Given the description of an element on the screen output the (x, y) to click on. 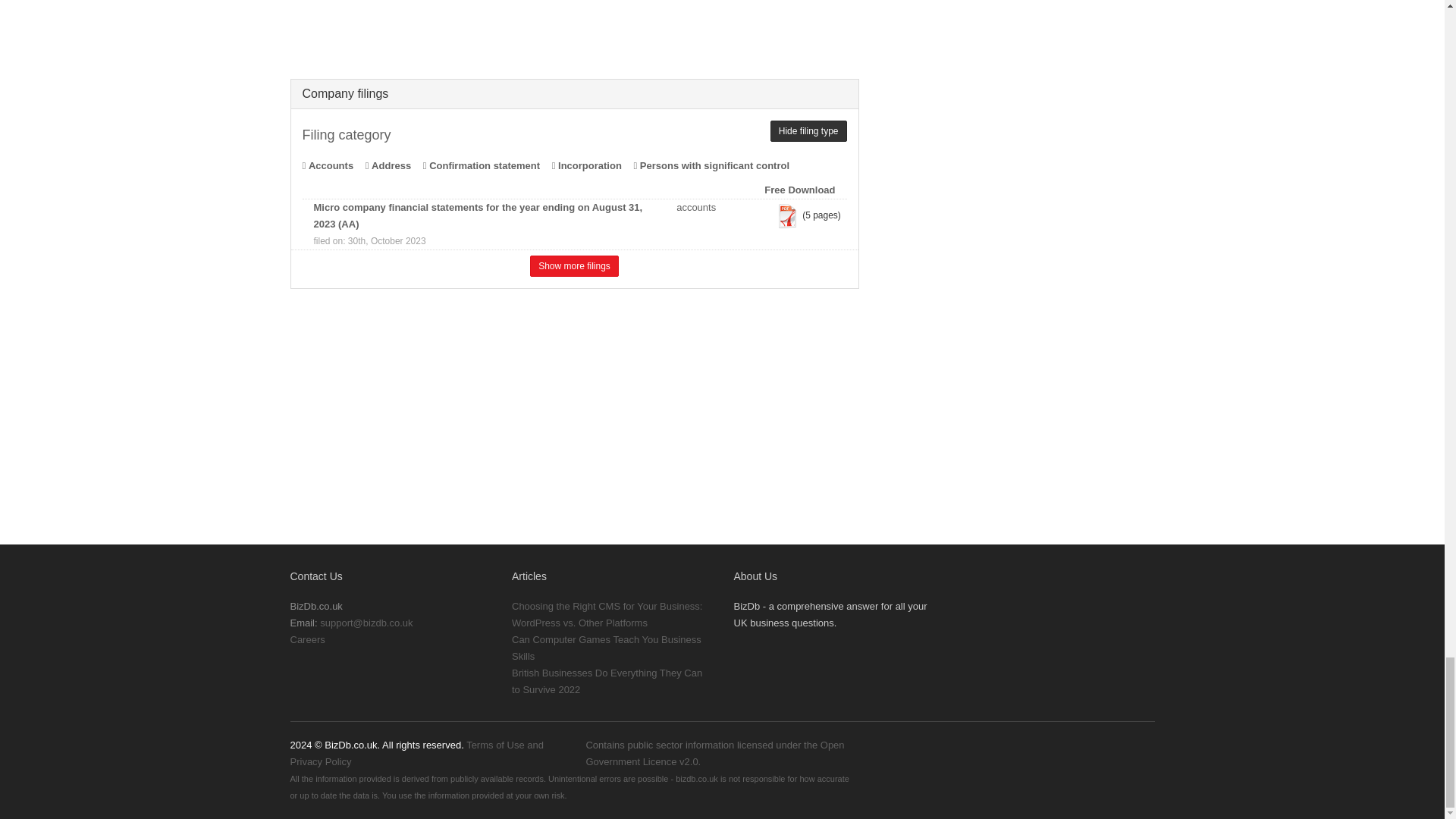
Open Government Licence v2.0. (714, 753)
British Businesses Do Everything They Can to Survive 2022 (606, 681)
Show more filings (573, 265)
Terms of Use and Privacy Policy (416, 753)
Articles (529, 576)
Can Computer Games Teach You Business Skills (606, 647)
Careers (306, 639)
